Given the description of an element on the screen output the (x, y) to click on. 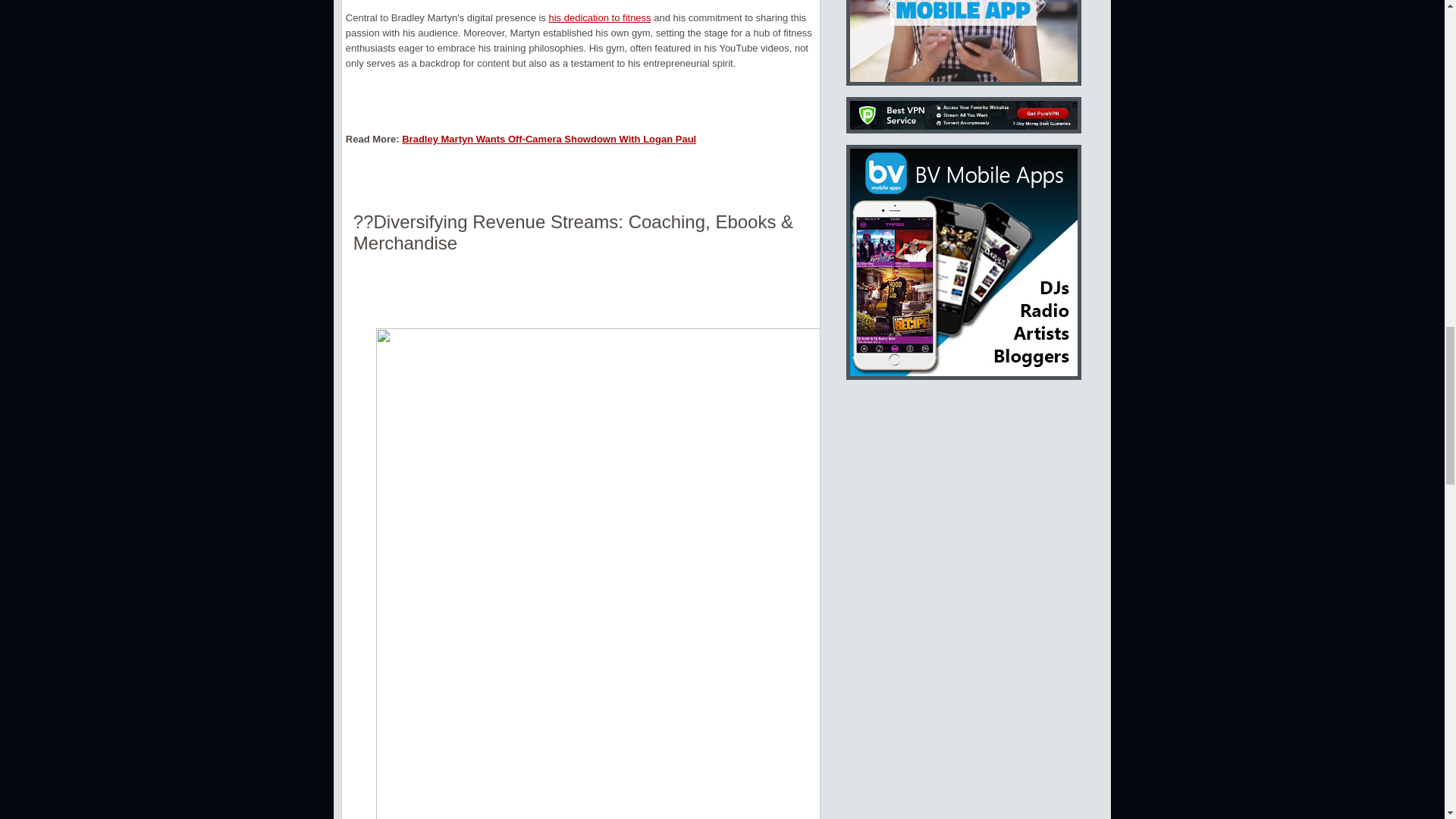
Bradley Martyn Wants Off-Camera Showdown With Logan Paul (548, 138)
his dedication to fitness (599, 17)
